Given the description of an element on the screen output the (x, y) to click on. 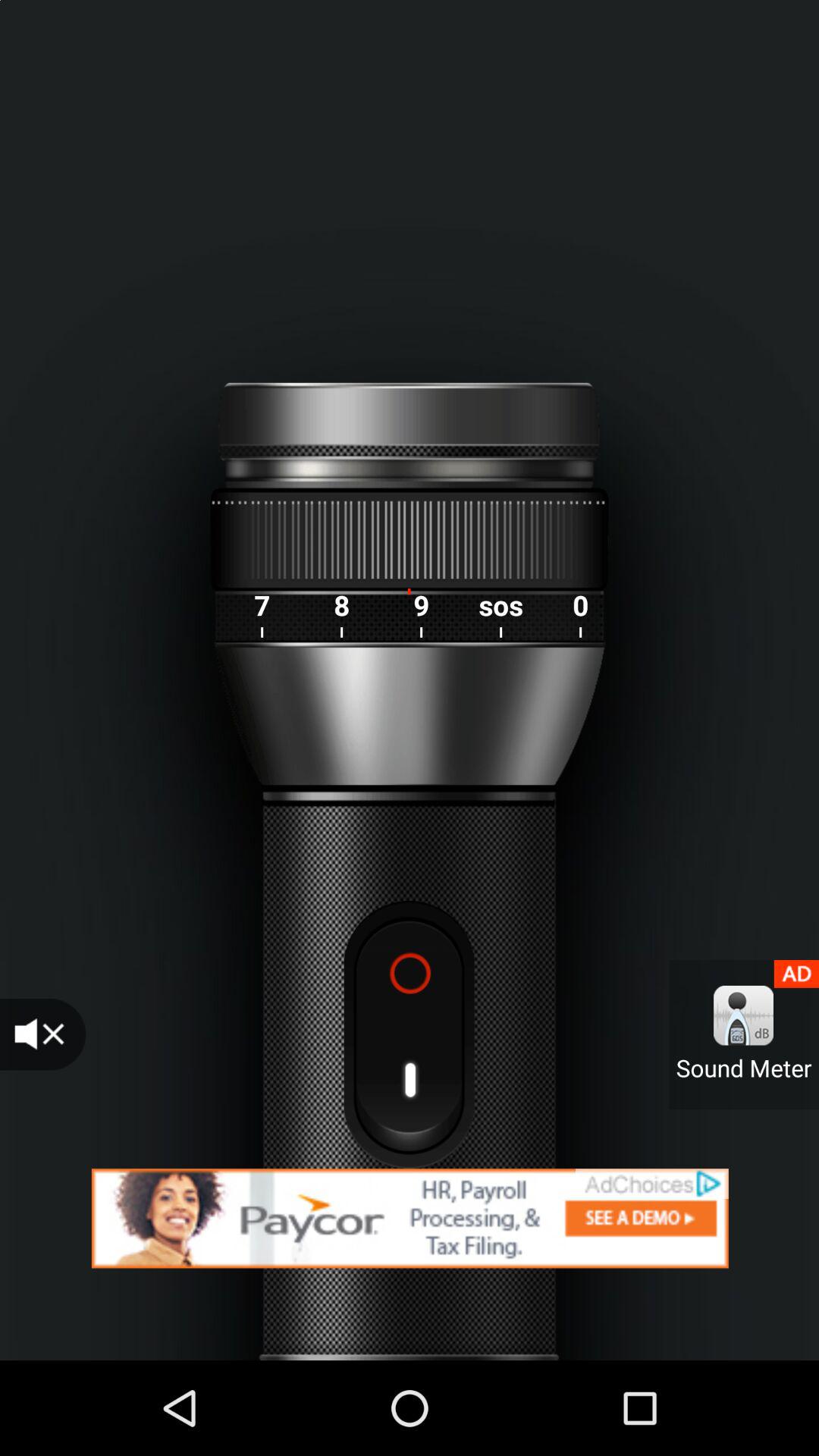
select off on (408, 1034)
